Given the description of an element on the screen output the (x, y) to click on. 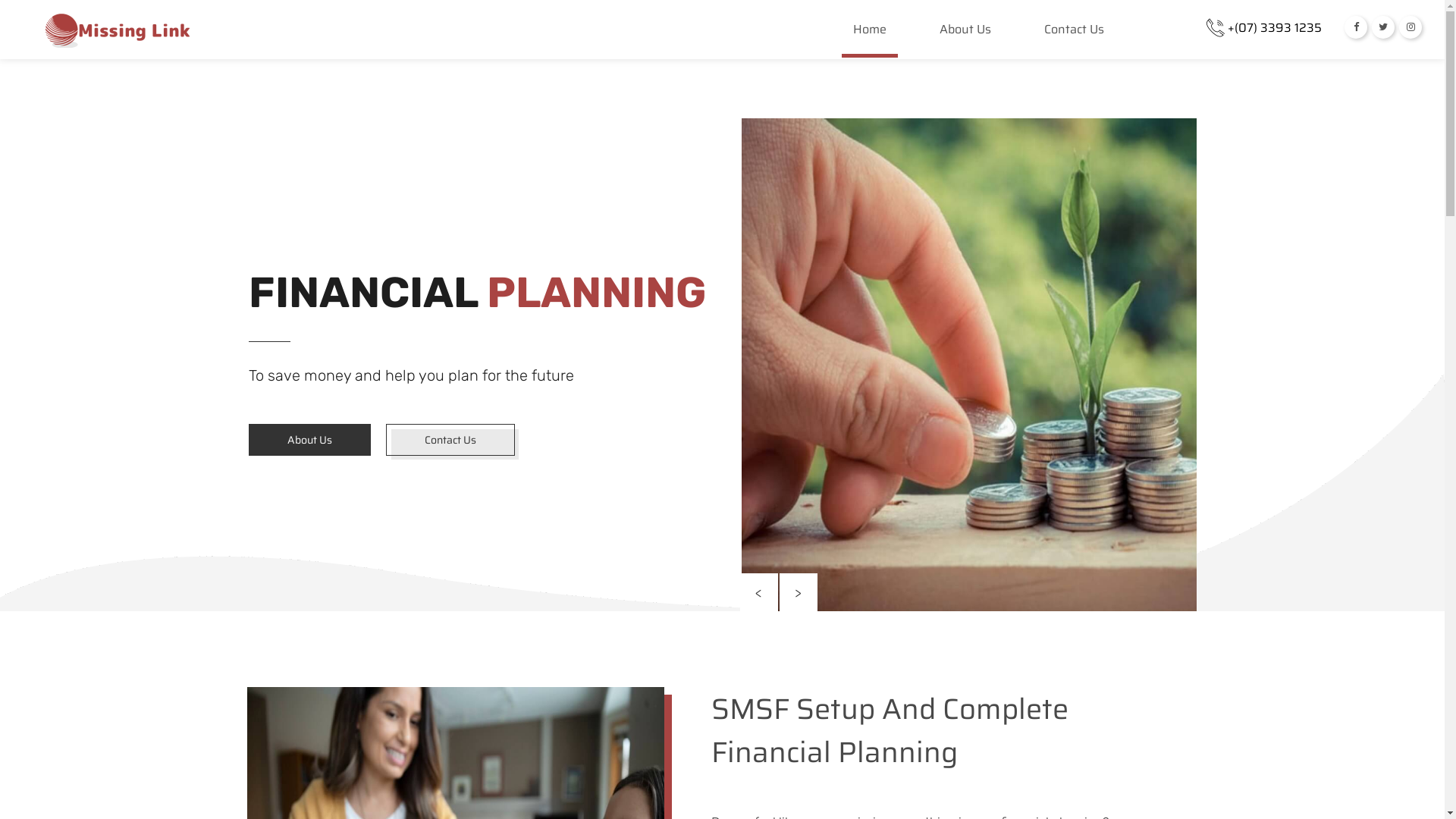
Contact Us Element type: text (449, 439)
About Us Element type: text (309, 439)
About Us Element type: text (965, 39)
Home Element type: text (869, 39)
Contact Us Element type: text (1073, 39)
